Given the description of an element on the screen output the (x, y) to click on. 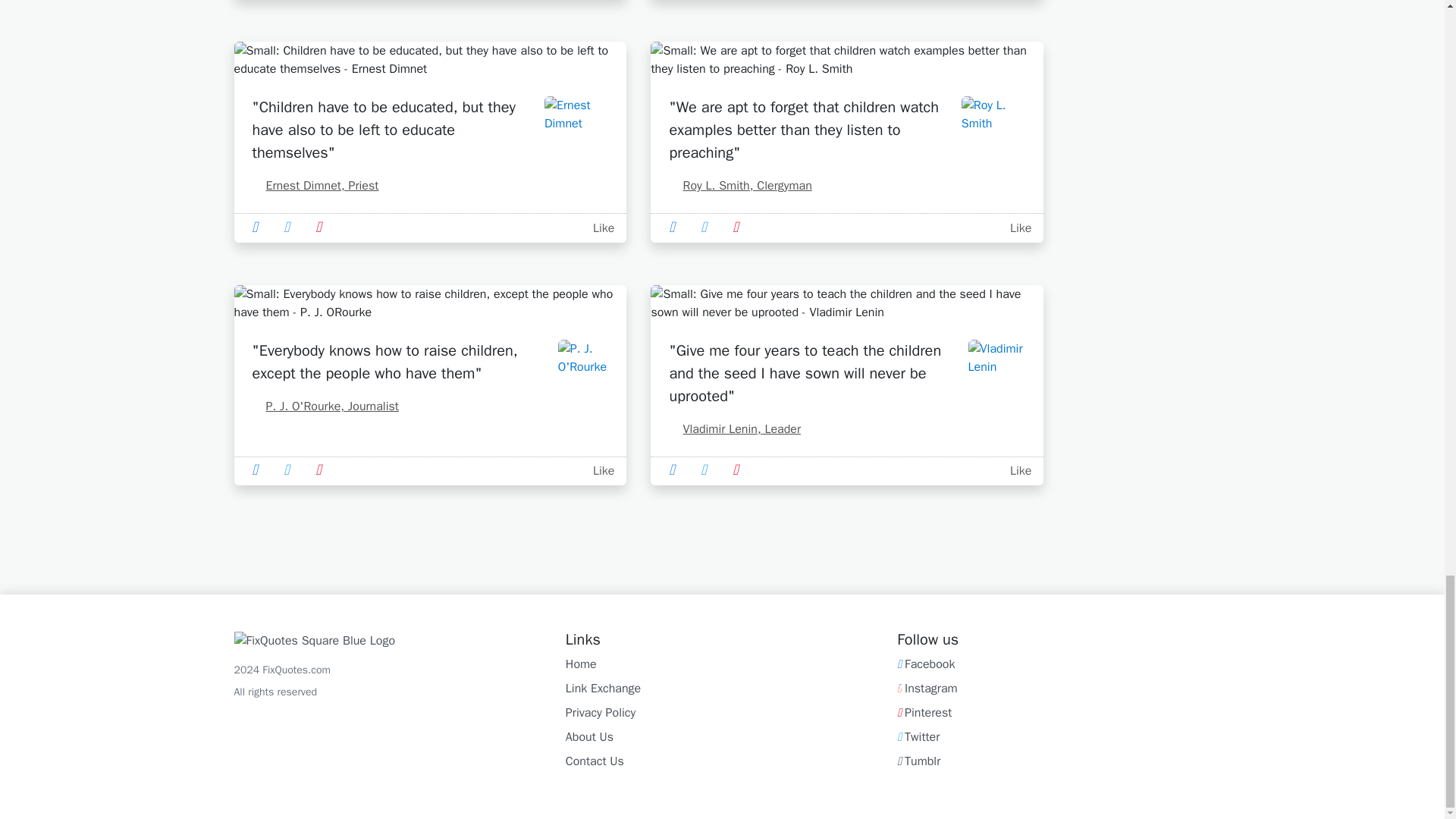
Ernest Dimnet, Priest (314, 185)
P. J. O'Rourke, Journalist (324, 406)
Roy L. Smith, Clergyman (739, 185)
Vladimir Lenin, Leader (734, 428)
